Given the description of an element on the screen output the (x, y) to click on. 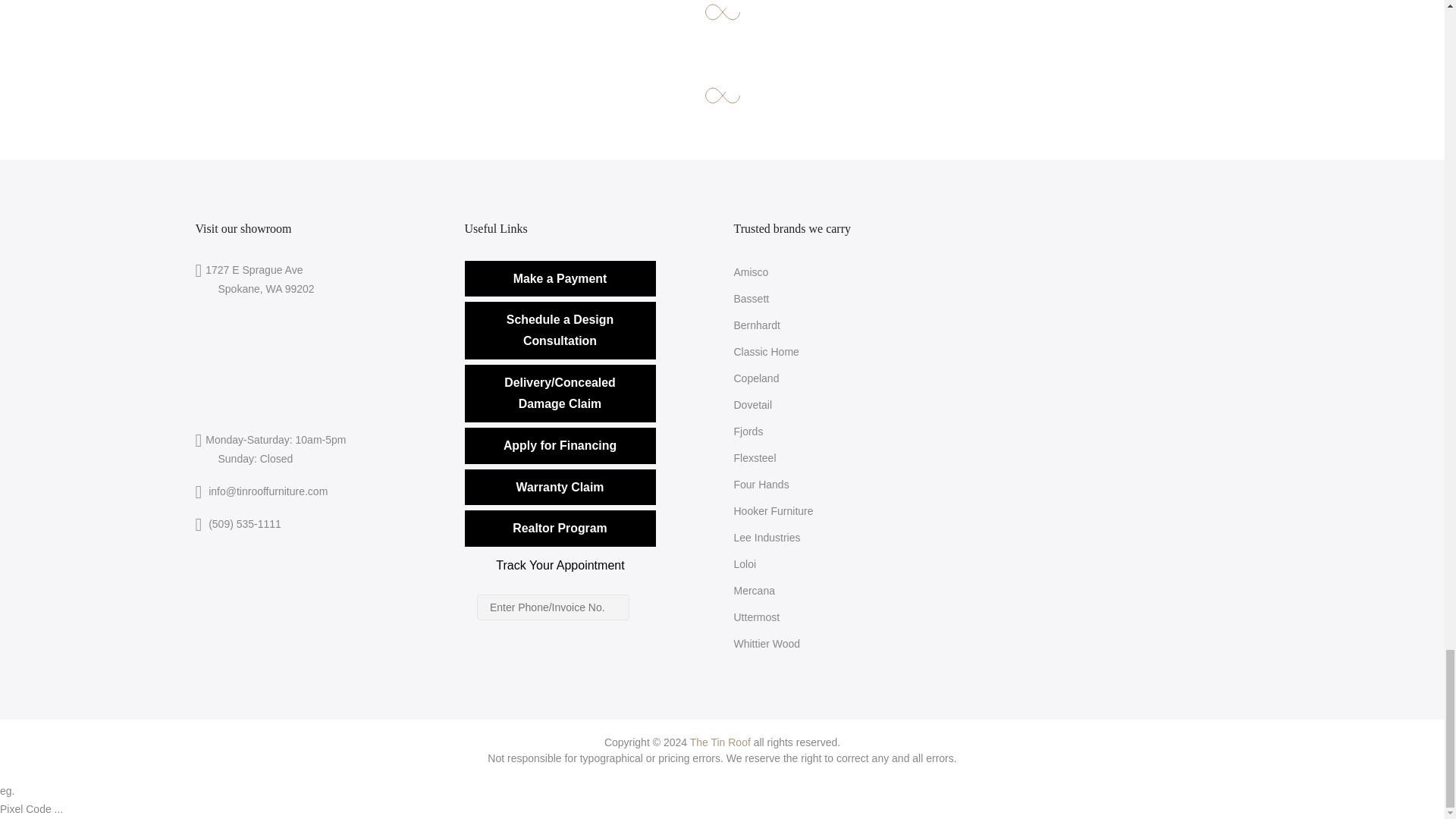
Make a Payment (587, 279)
Make a Payment (559, 279)
Schedule a Design Consultation (587, 330)
Warranty Claim (559, 487)
Realtor Program (559, 528)
Realtor Program (587, 569)
Warranty Claim (587, 487)
Apply for Financing (559, 445)
Schedule a Design Consultation (559, 330)
Amisco (750, 272)
